Given the description of an element on the screen output the (x, y) to click on. 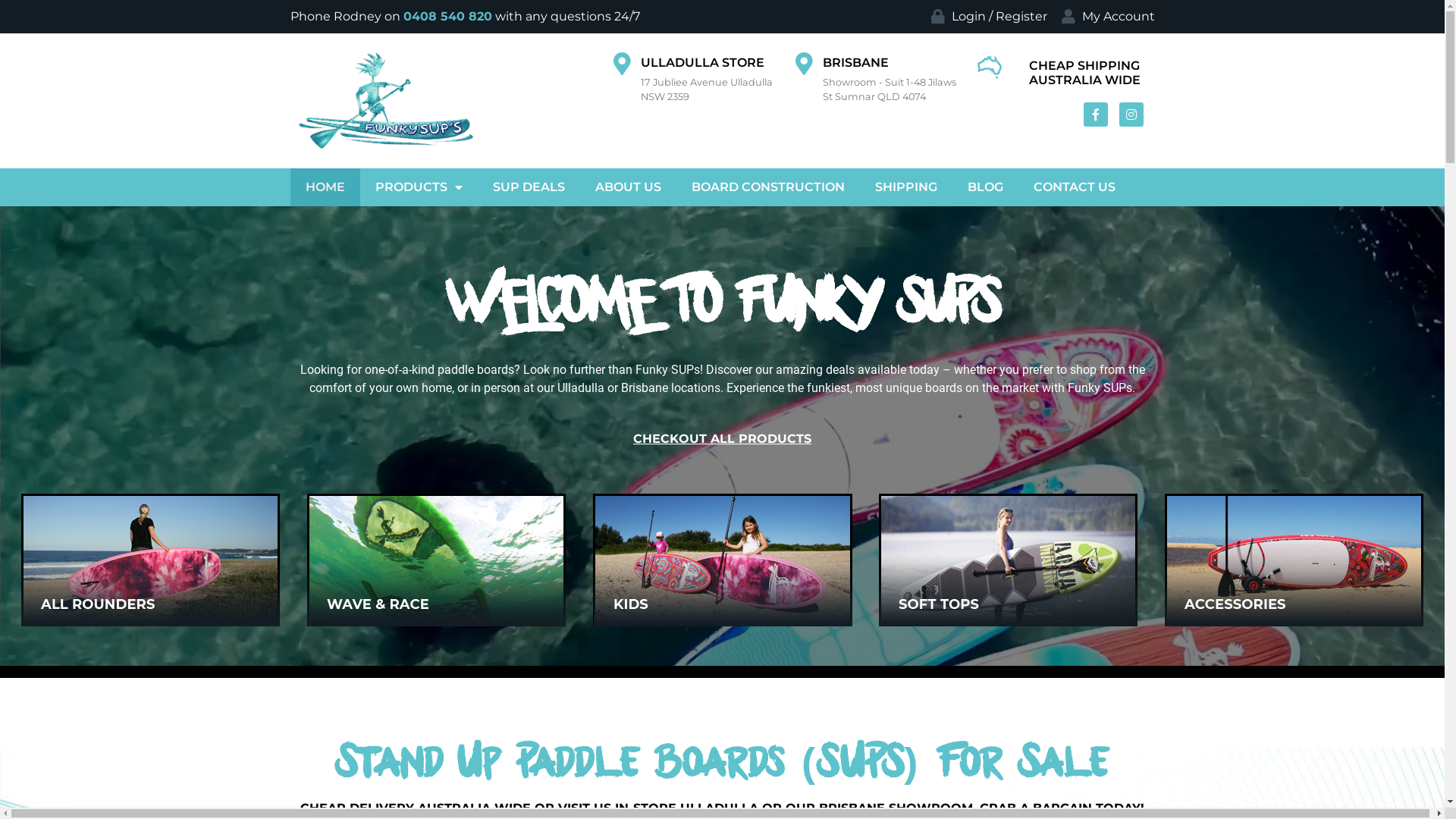
BOARD CONSTRUCTION Element type: text (767, 187)
PRODUCTS Element type: text (417, 187)
ABOUT US Element type: text (627, 187)
My Account Element type: text (1106, 16)
CONTACT US Element type: text (1073, 187)
Login / Register Element type: text (987, 16)
CHECKOUT ALL PRODUCTS Element type: text (722, 438)
SHIPPING Element type: text (905, 187)
BLOG Element type: text (985, 187)
HOME Element type: text (324, 187)
SUP DEALS Element type: text (528, 187)
